Given the description of an element on the screen output the (x, y) to click on. 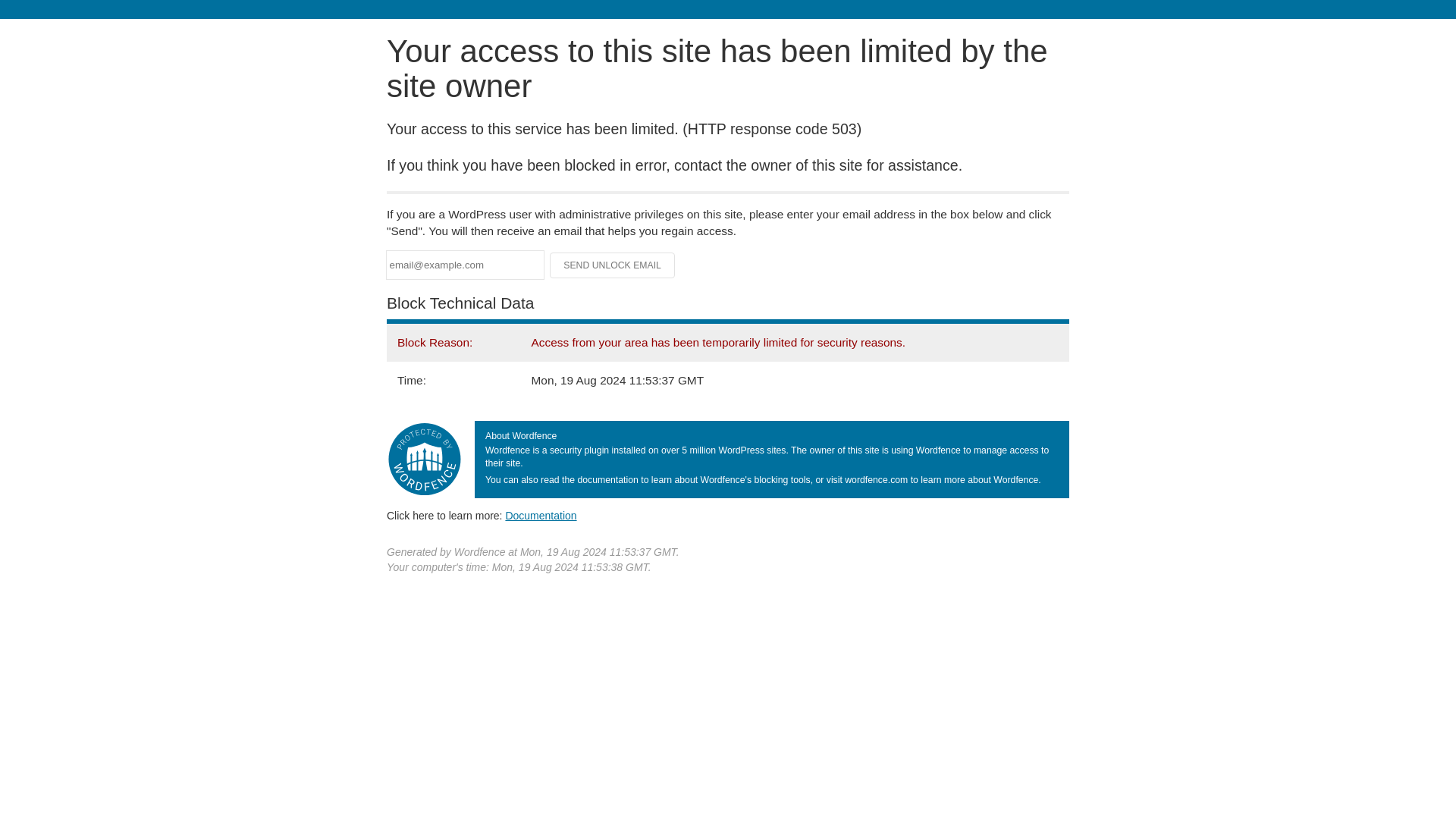
Documentation (540, 515)
Send Unlock Email (612, 265)
Send Unlock Email (612, 265)
